Given the description of an element on the screen output the (x, y) to click on. 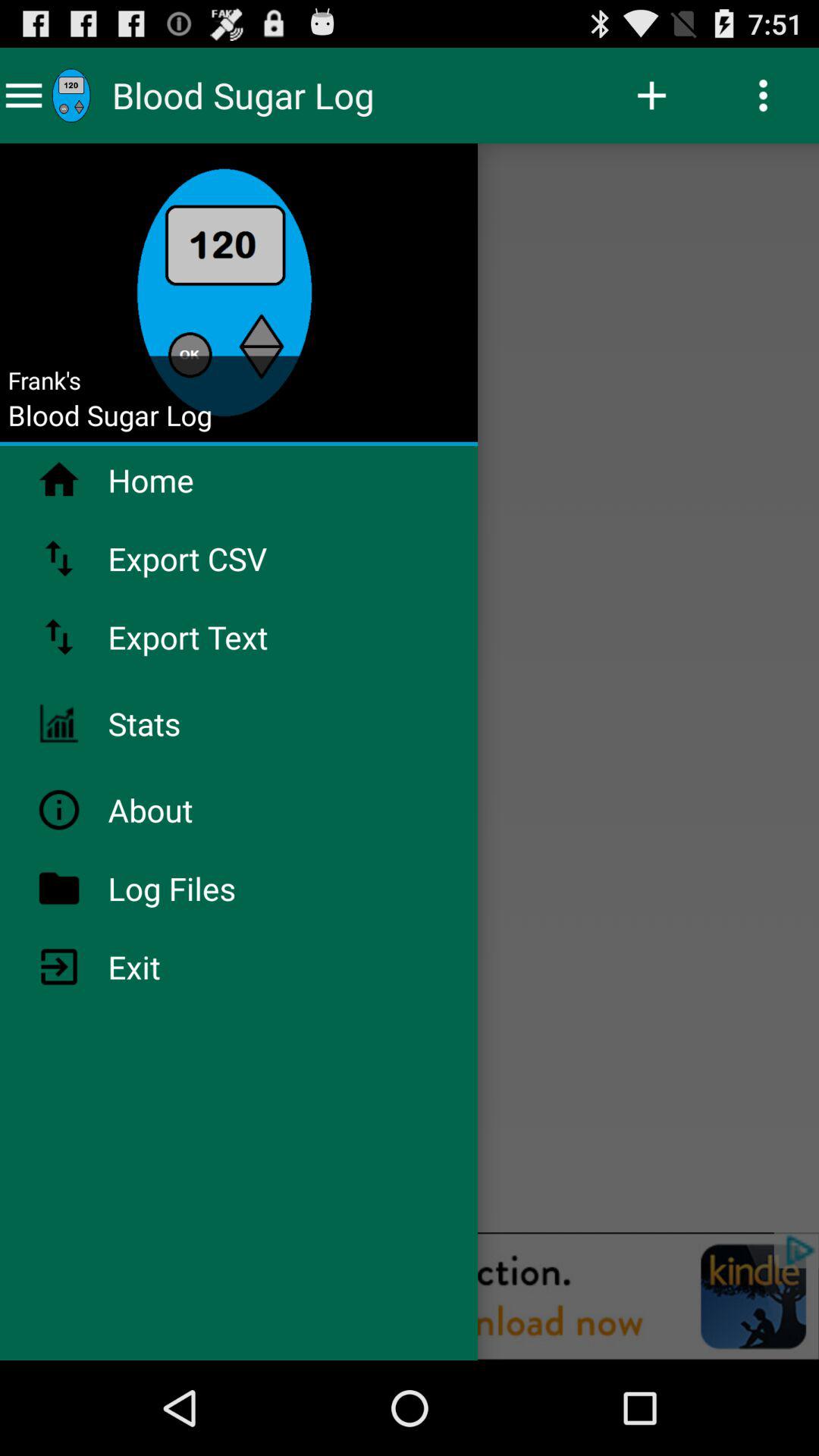
press item above exit (211, 888)
